Given the description of an element on the screen output the (x, y) to click on. 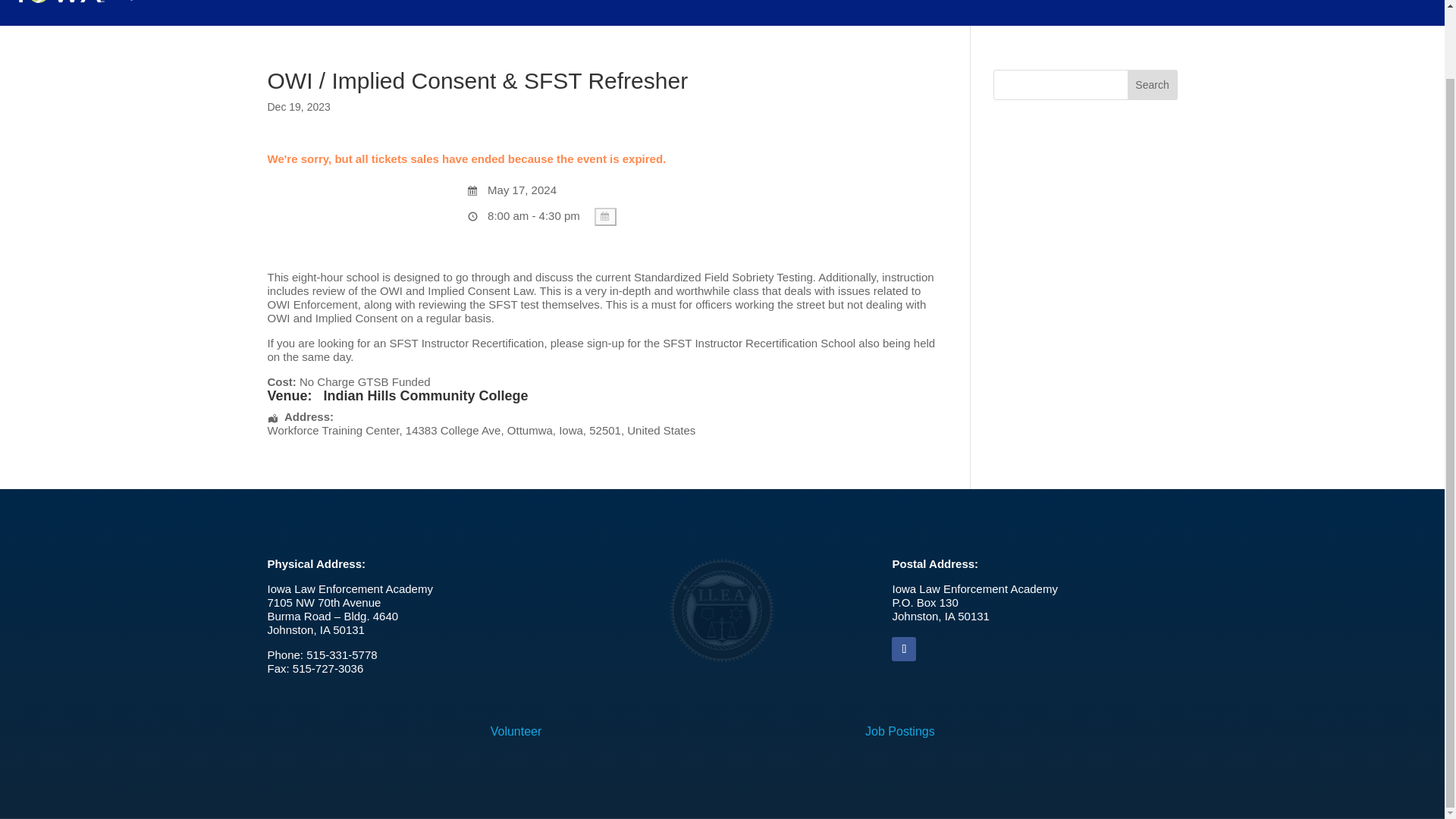
Search (1151, 84)
Assisting Instructors (456, 11)
Training (272, 11)
Job Postings (899, 730)
Follow on Facebook (903, 648)
Indian Hills Community College (425, 395)
Volunteer (515, 730)
Contact (537, 11)
Add to iCal Calendar (604, 217)
logo-washed (721, 610)
Search (1151, 84)
Home (214, 11)
Job Postings (353, 11)
